Given the description of an element on the screen output the (x, y) to click on. 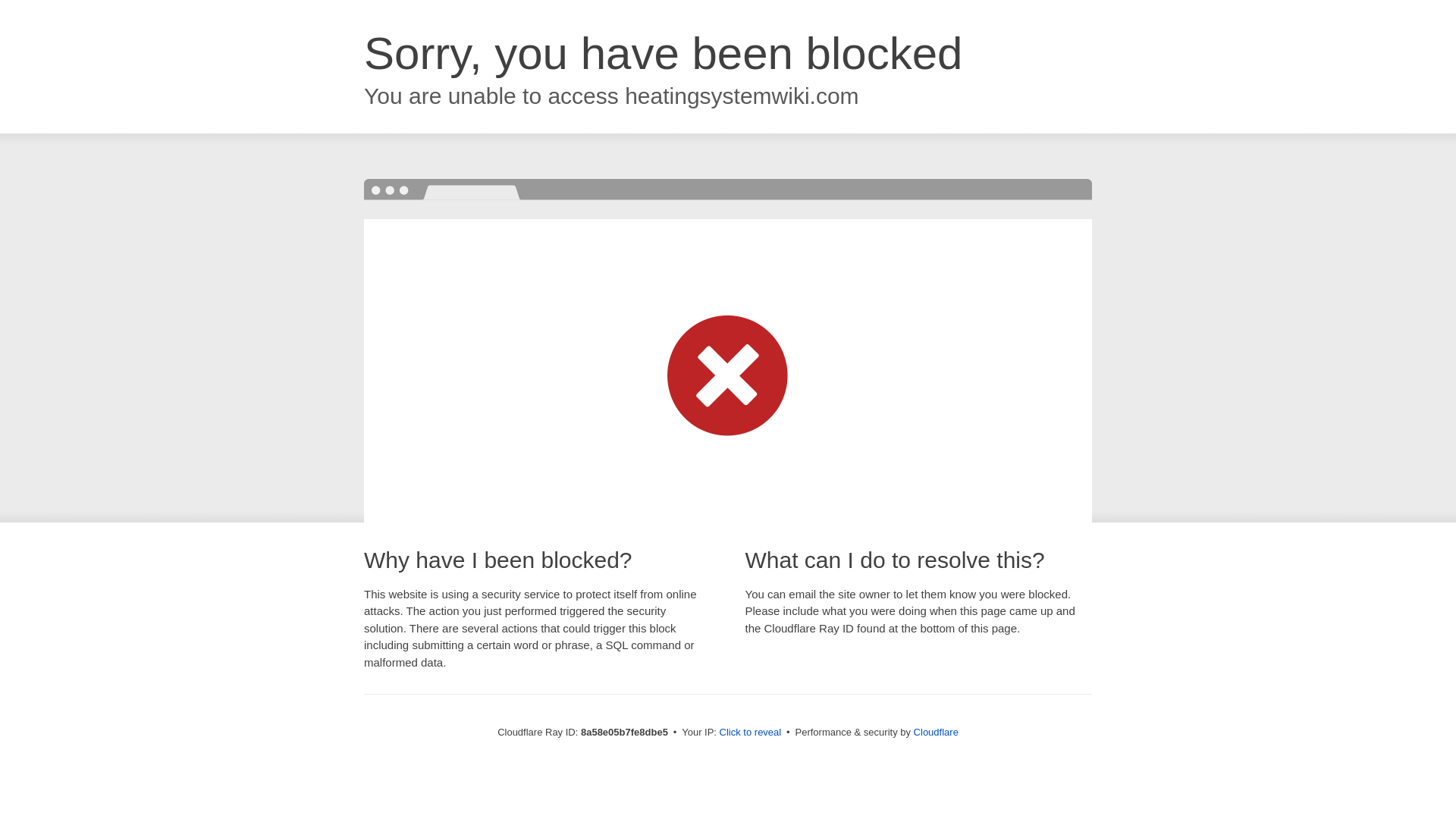
Cloudflare (936, 731)
Click to reveal (750, 732)
